Given the description of an element on the screen output the (x, y) to click on. 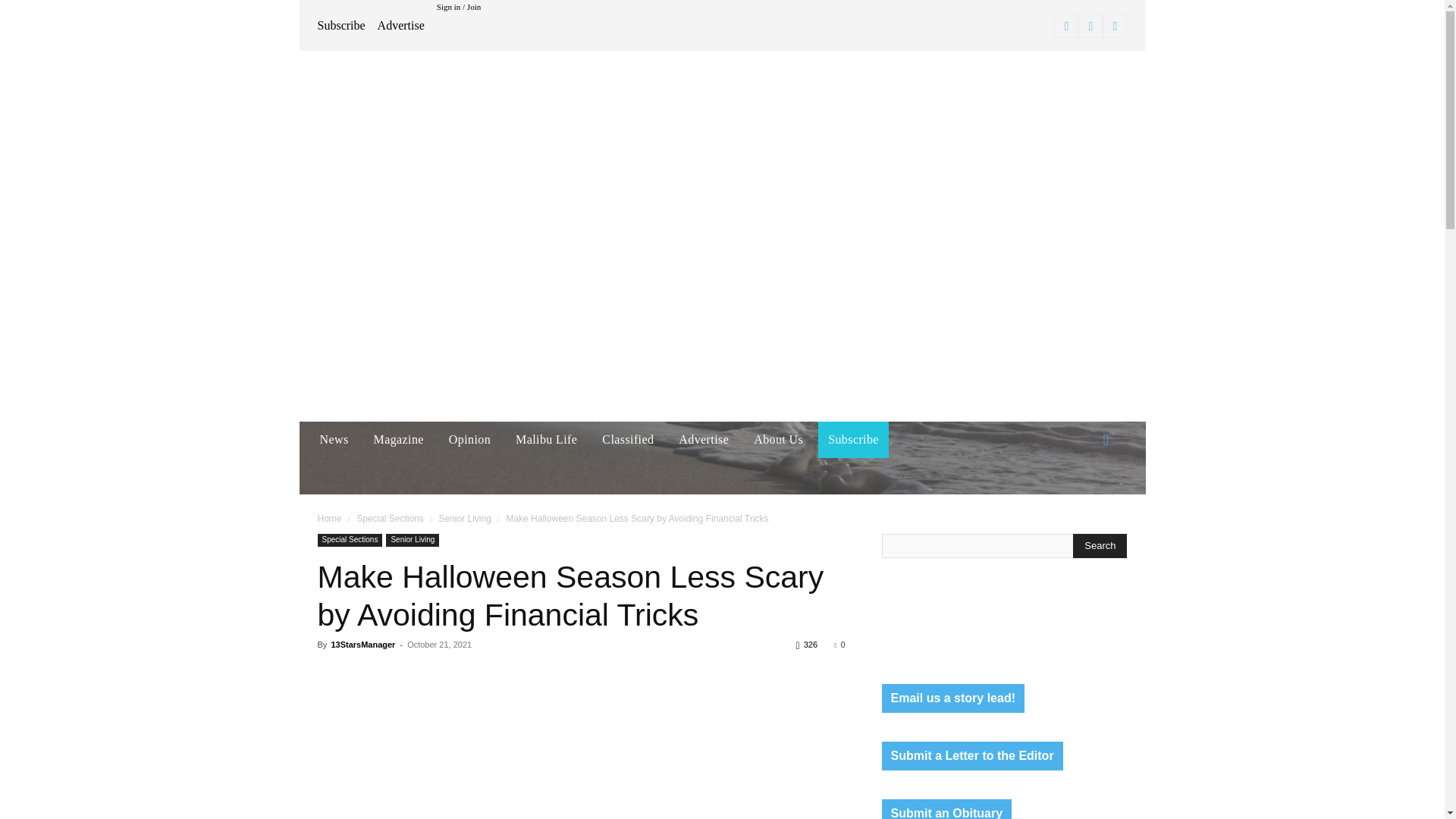
Instagram (1090, 25)
Search (1099, 545)
Facebook (1066, 25)
Twitter (1114, 25)
View all posts in Senior Living (464, 518)
View all posts in Special Sections (389, 518)
